Given the description of an element on the screen output the (x, y) to click on. 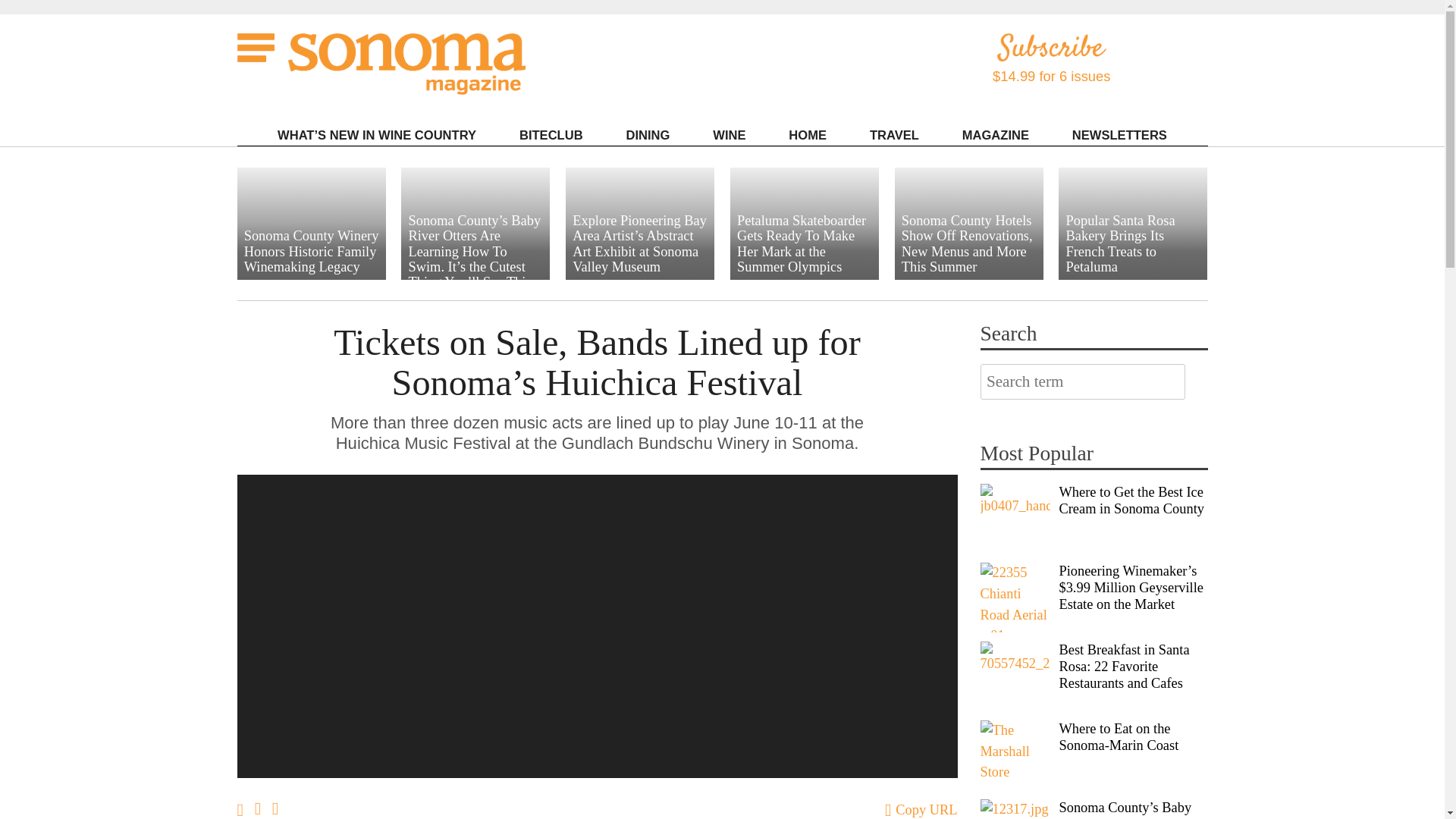
DINING (647, 134)
HOME (807, 134)
MAGAZINE (994, 134)
NEWSLETTERS (1120, 134)
Contact Sonoma Magazine (1034, 162)
TRAVEL (894, 134)
Where to Get the Best Ice Cream in Sonoma County (1014, 518)
BITECLUB (550, 134)
WINE (729, 134)
Where to Eat on the Sonoma-Marin Coast (1014, 755)
Current Issue (1034, 155)
